Given the description of an element on the screen output the (x, y) to click on. 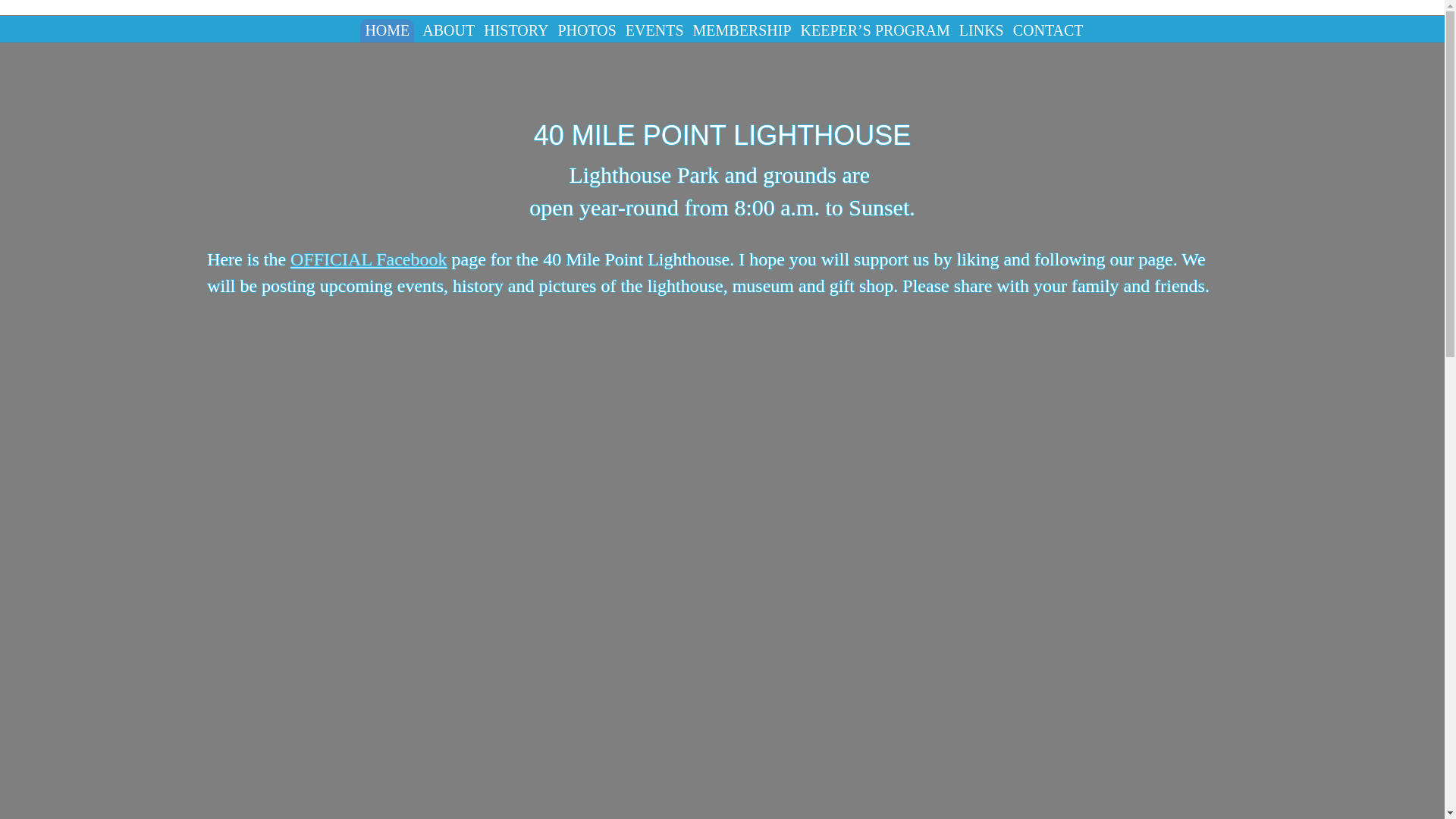
PHOTOS (585, 30)
HISTORY (515, 30)
CONTACT (1047, 30)
OFFICIAL Facebook (367, 259)
HOME (386, 30)
MEMBERSHIP (742, 30)
LINKS (981, 30)
EVENTS (654, 30)
ABOUT (449, 30)
